Given the description of an element on the screen output the (x, y) to click on. 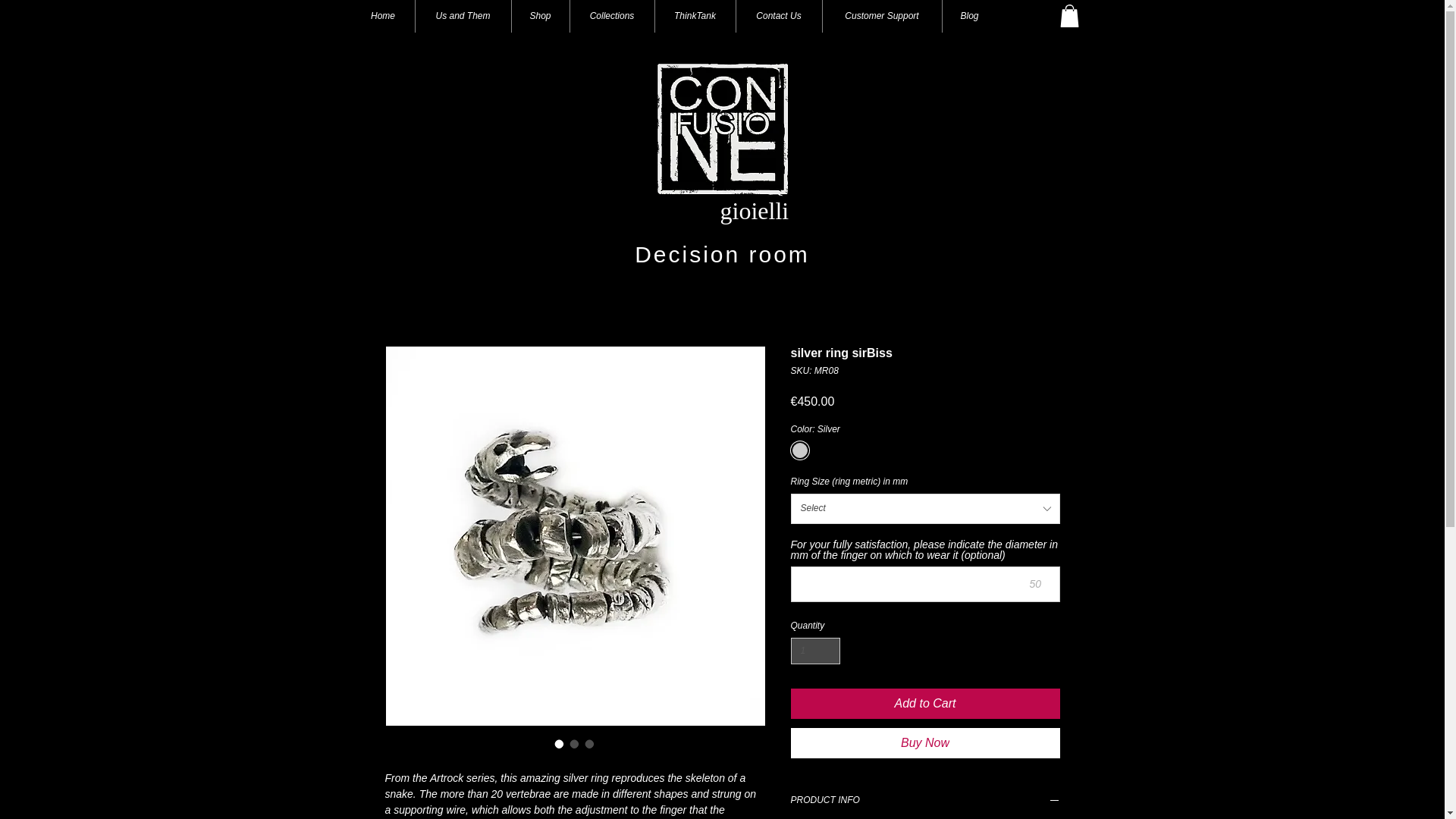
Home (383, 16)
1 (815, 651)
Collections (611, 16)
Buy Now (924, 743)
jewelry to stand out (721, 128)
Add to Cart (924, 703)
Shop (540, 16)
Blog (968, 16)
Customer Support (881, 16)
Us and Them (462, 16)
Contact Us (778, 16)
PRODUCT INFO (924, 801)
Select (924, 508)
ThinkTank (695, 16)
